Given the description of an element on the screen output the (x, y) to click on. 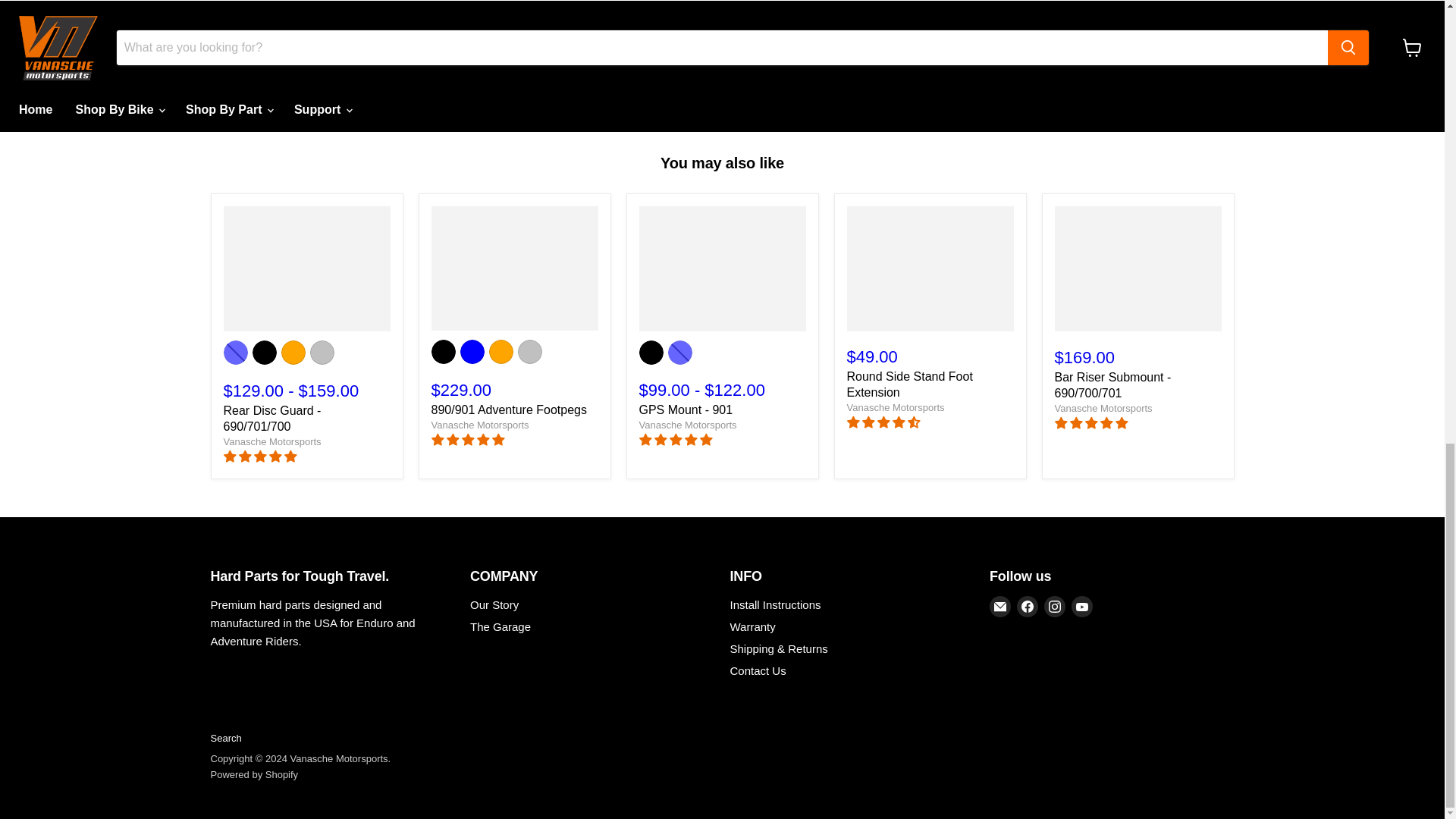
Email (1000, 606)
Vanasche Motorsports (894, 407)
Vanasche Motorsports (1102, 408)
Vanasche Motorsports (479, 424)
Vanasche Motorsports (271, 441)
Vanasche Motorsports (687, 424)
